Given the description of an element on the screen output the (x, y) to click on. 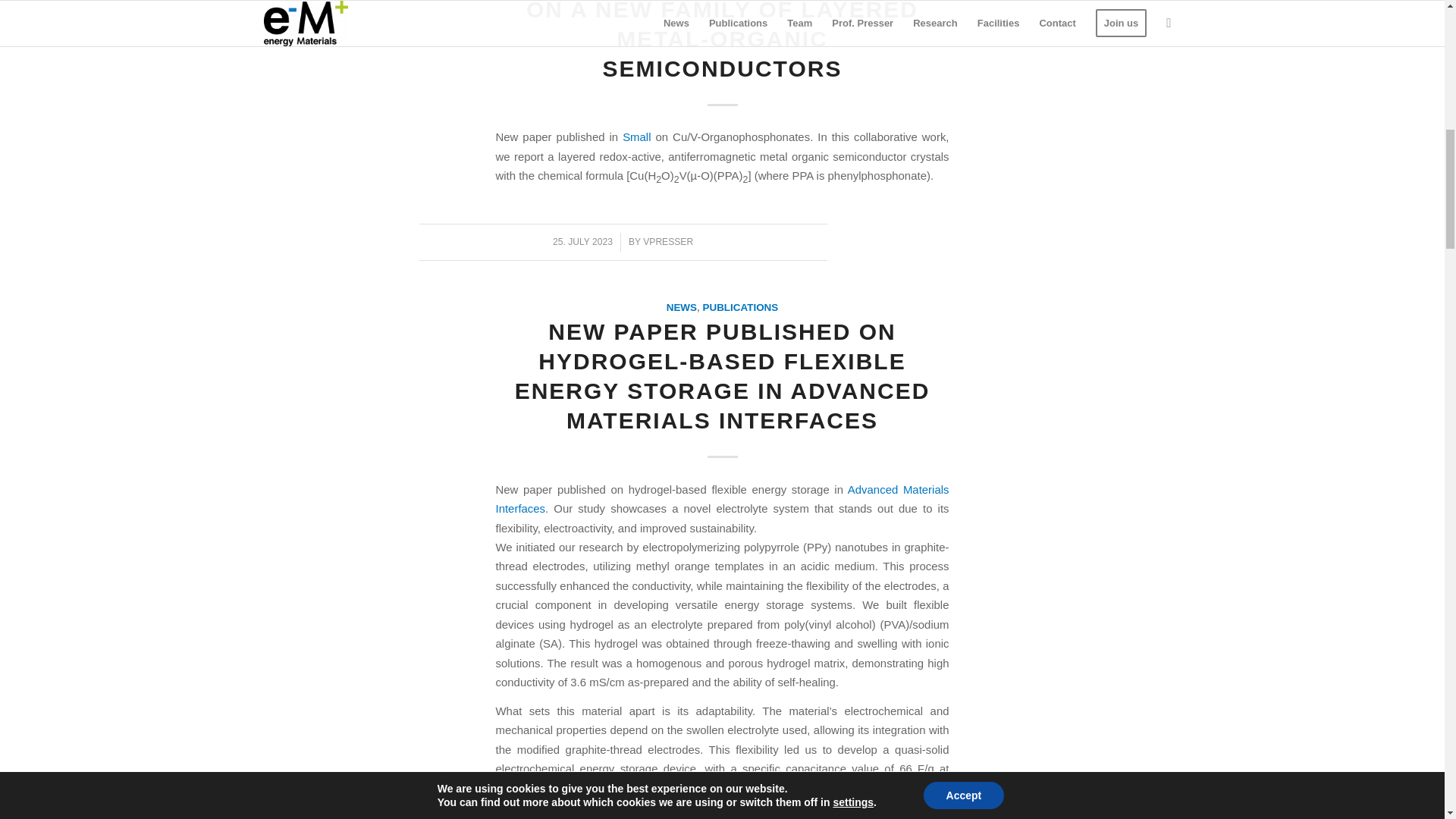
VPRESSER (668, 241)
NEWS (681, 307)
PUBLICATIONS (739, 307)
Posts by vpresser (668, 241)
Small (636, 136)
Advanced Materials Interfaces (722, 499)
